Given the description of an element on the screen output the (x, y) to click on. 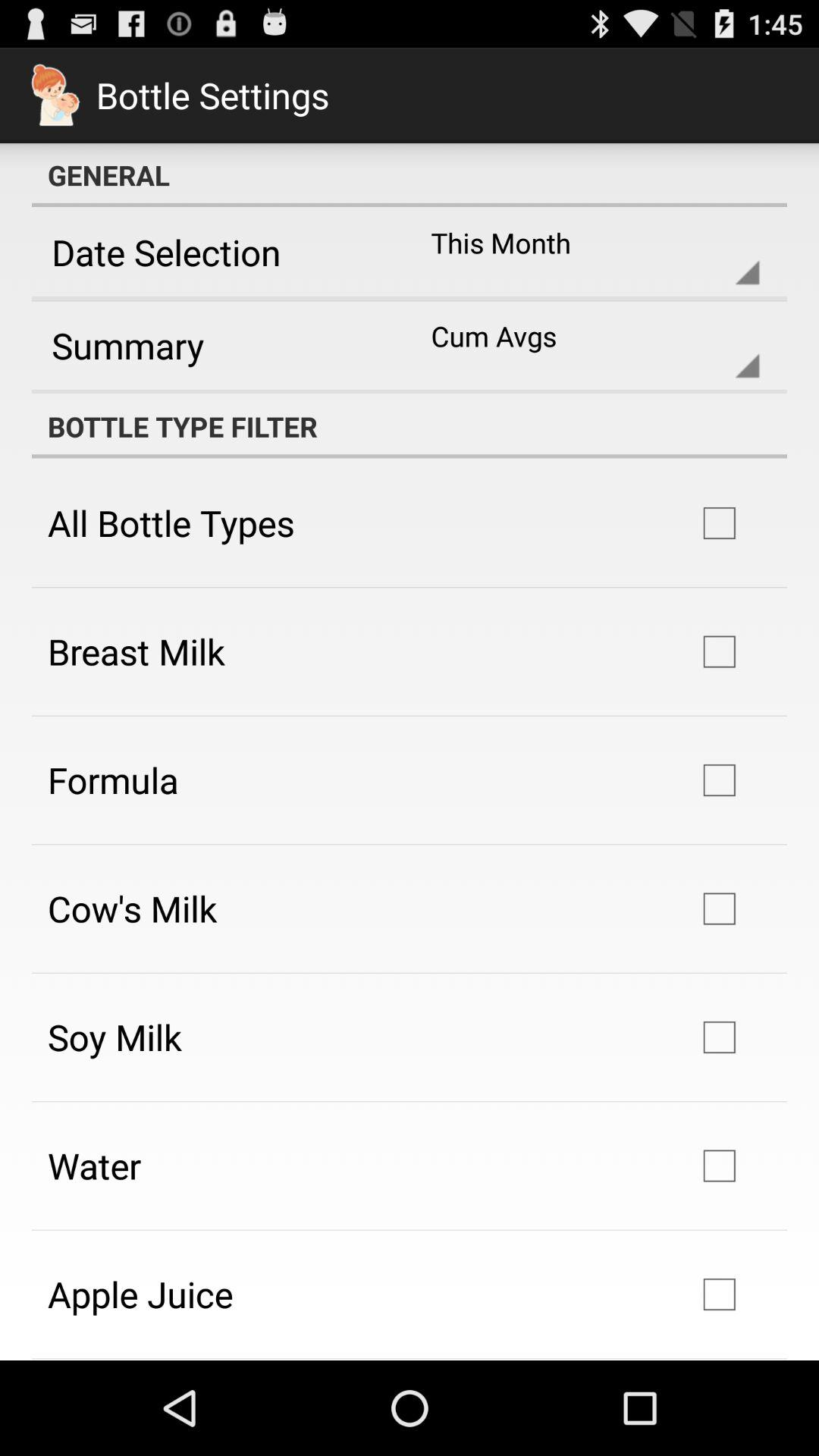
flip until the breast milk (136, 651)
